Given the description of an element on the screen output the (x, y) to click on. 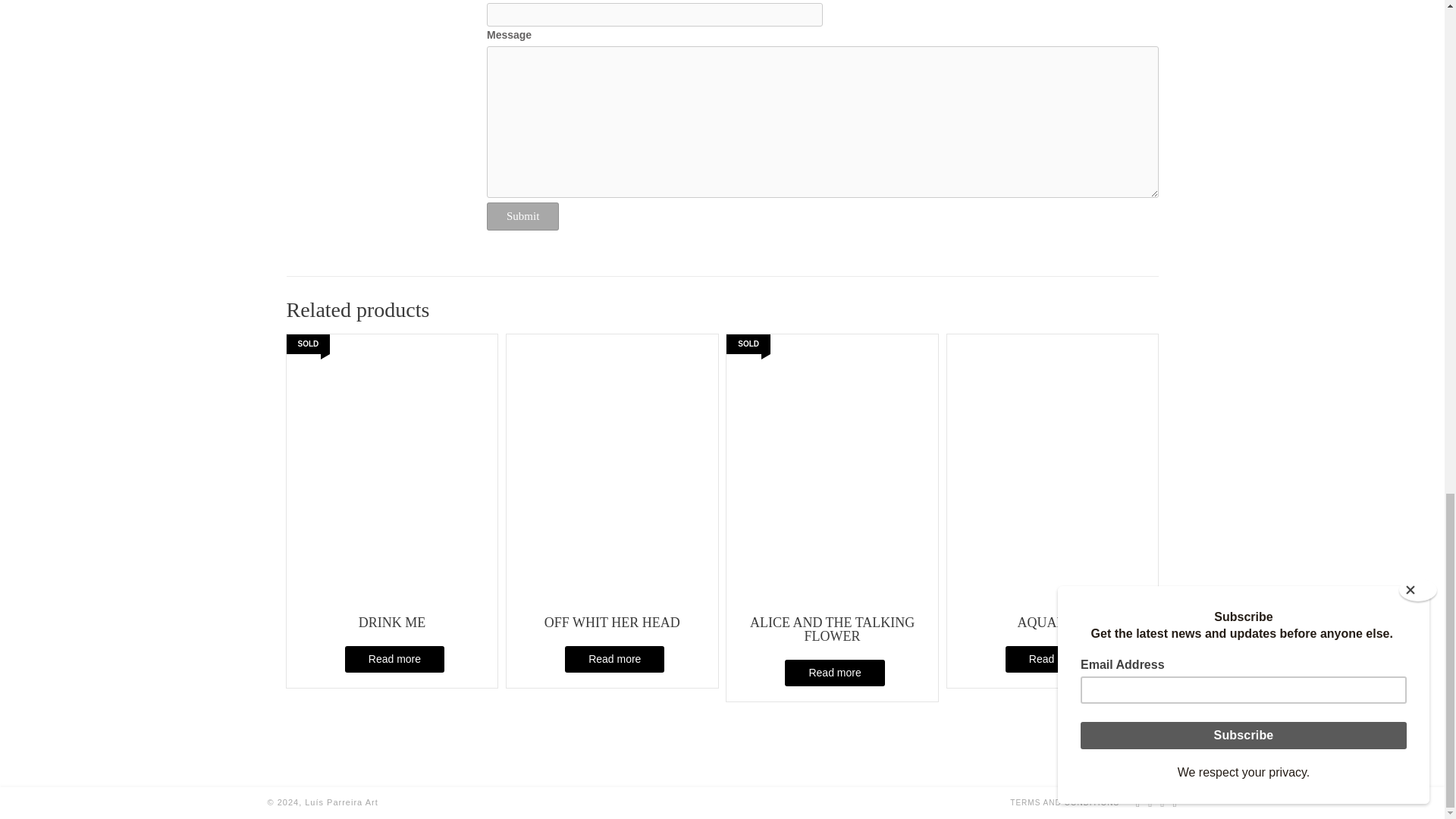
Read more (394, 659)
Read more (833, 673)
Follow Us on Twitter (1162, 802)
Find Us on Facebook (1150, 802)
Submit (522, 216)
Read more (1055, 659)
TERMS AND CONDITIONS (1064, 802)
Read more (613, 659)
AQUARIUS (1052, 499)
DRINK ME (391, 499)
OFF WHIT HER HEAD (611, 499)
Find Us on Pinterest (1174, 802)
ALICE AND THE TALKING FLOWER (831, 506)
Send Us an Email (1137, 802)
